Given the description of an element on the screen output the (x, y) to click on. 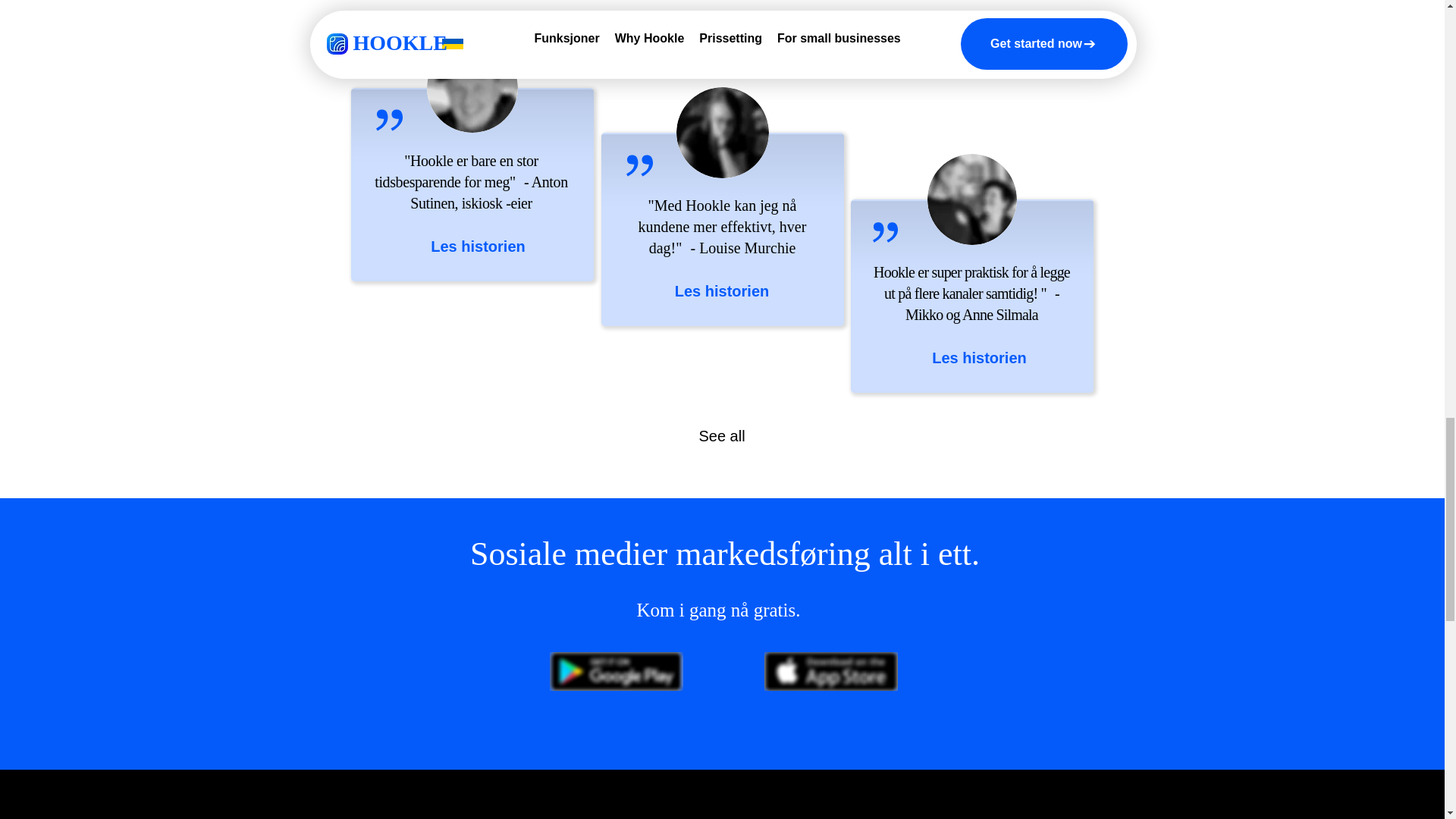
Les historien (477, 246)
GettyImages-535587703.jpg (971, 198)
GettyImages-535587703.jpg (471, 87)
See all (721, 435)
Success stories (734, 22)
Les historien (721, 290)
GettyImages-535587703.jpg (722, 132)
Les historien (978, 357)
